Given the description of an element on the screen output the (x, y) to click on. 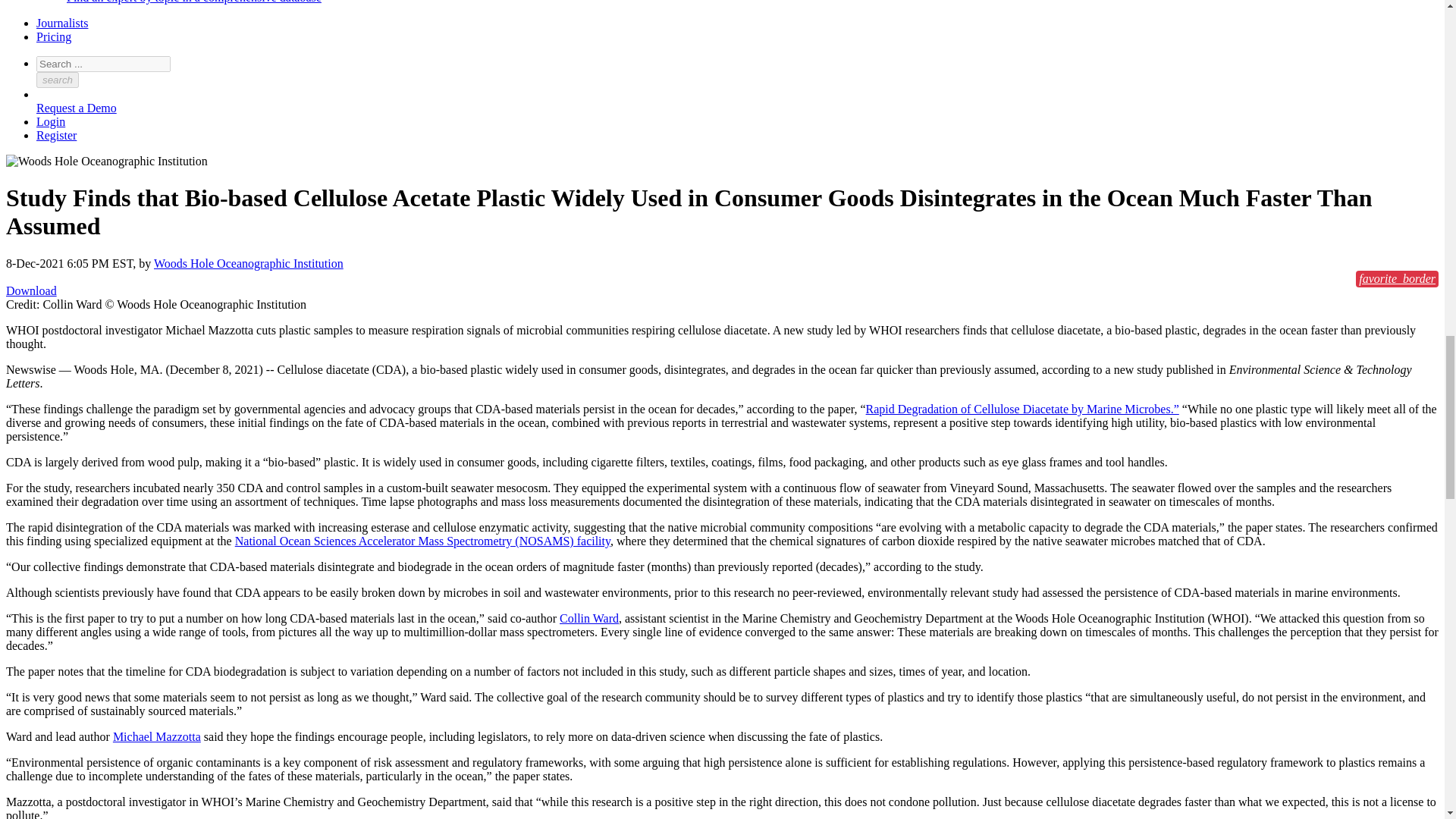
View full image (30, 290)
